Given the description of an element on the screen output the (x, y) to click on. 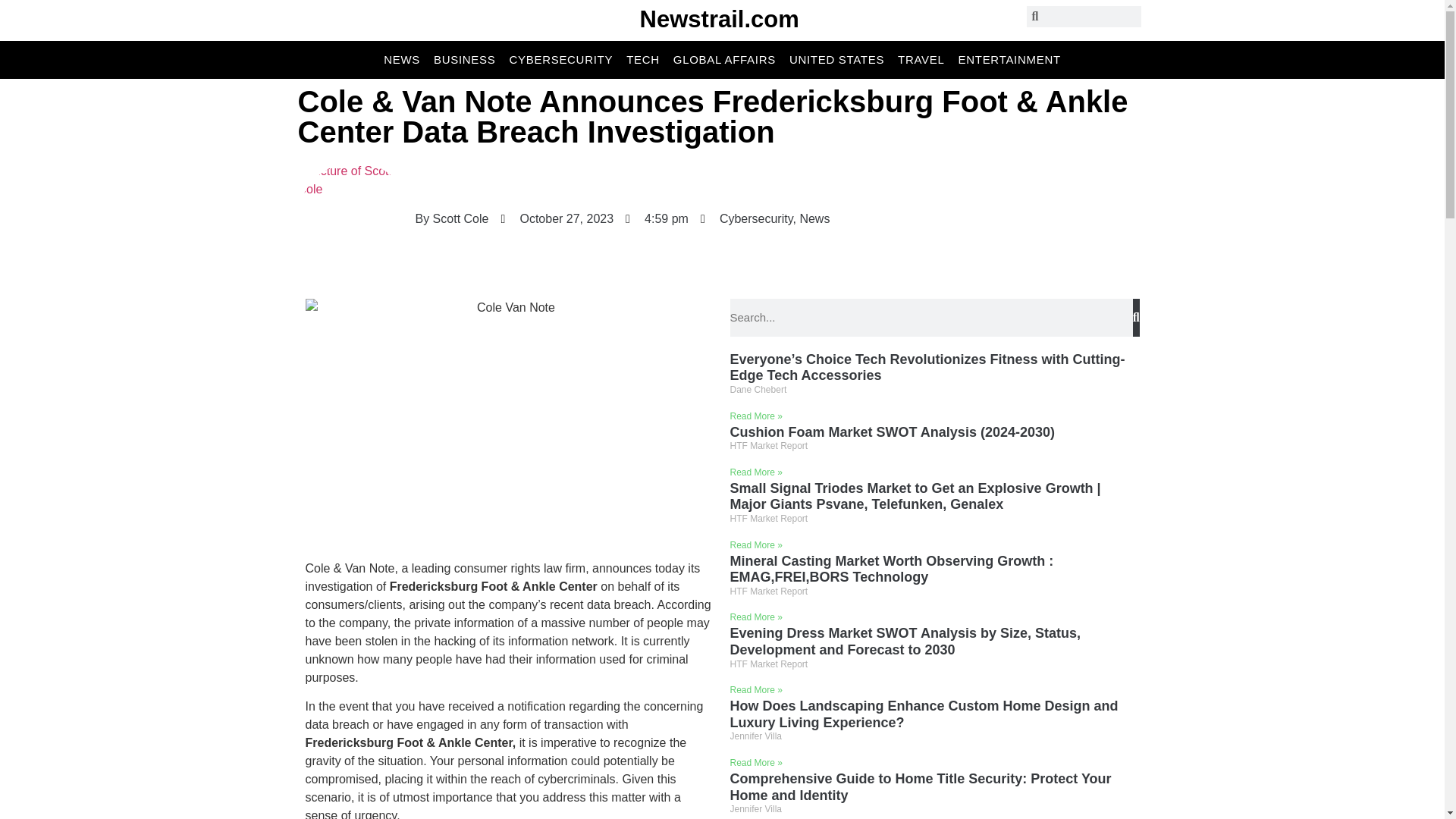
ENTERTAINMENT (1009, 59)
cole-van-note-lawyers-news (509, 421)
TRAVEL (921, 59)
BUSINESS (463, 59)
GLOBAL AFFAIRS (723, 59)
CYBERSECURITY (560, 59)
TECH (642, 59)
NEWS (401, 59)
Newstrail.com (719, 18)
UNITED STATES (836, 59)
